Given the description of an element on the screen output the (x, y) to click on. 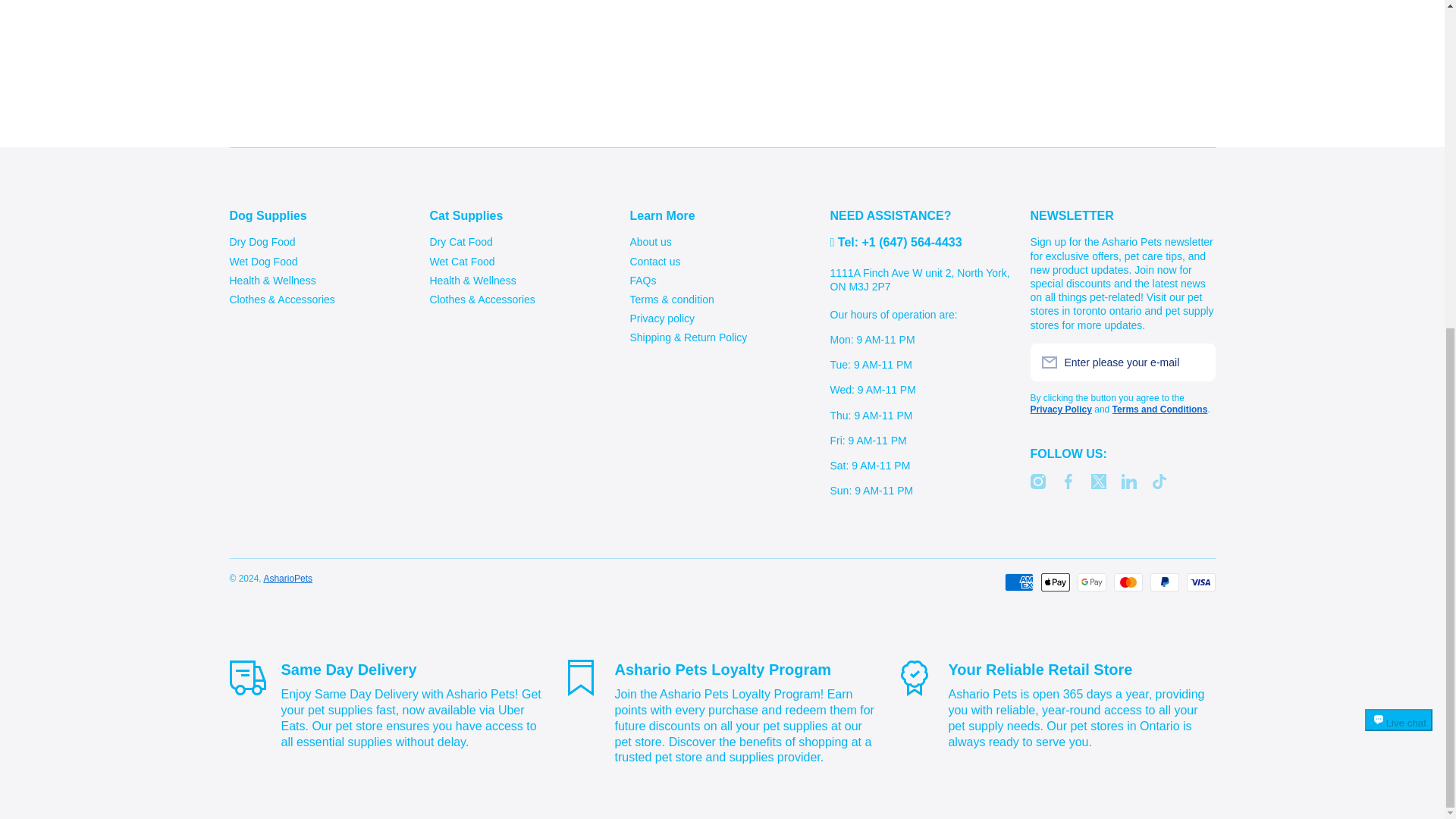
Shopify online store chat (1398, 192)
Wet Dog Food (262, 258)
Privacy Policy (1059, 409)
Dry Dog Food (261, 239)
